Given the description of an element on the screen output the (x, y) to click on. 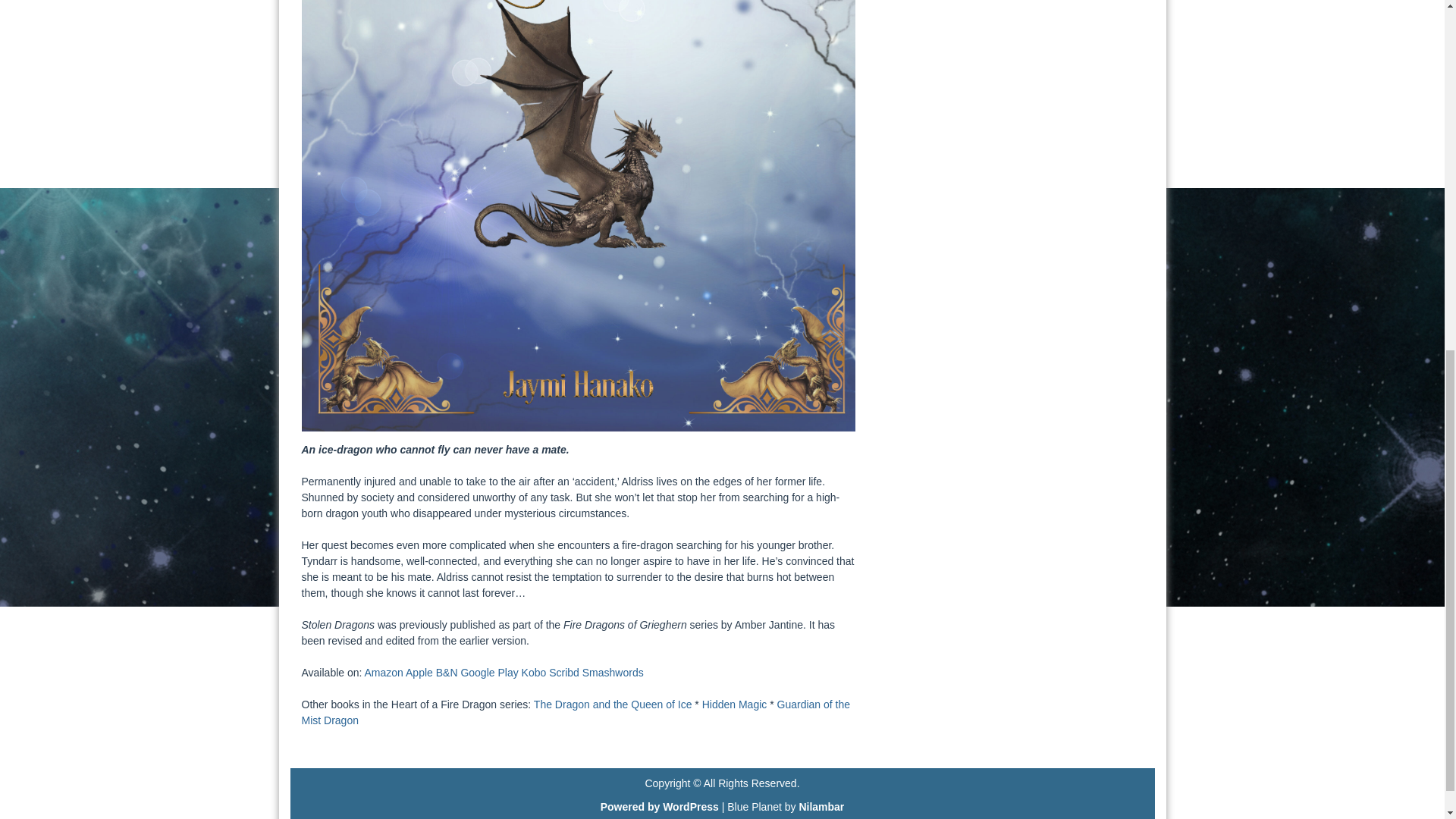
Amazon (384, 672)
Hidden Magic (734, 704)
Guardian of the Mist Dragon (575, 712)
The Dragon and the Queen of Ice (613, 704)
Powered by WordPress (659, 806)
Scribd (563, 672)
Smashwords (612, 672)
Nilambar (820, 806)
Apple (419, 672)
Kobo (534, 672)
